Given the description of an element on the screen output the (x, y) to click on. 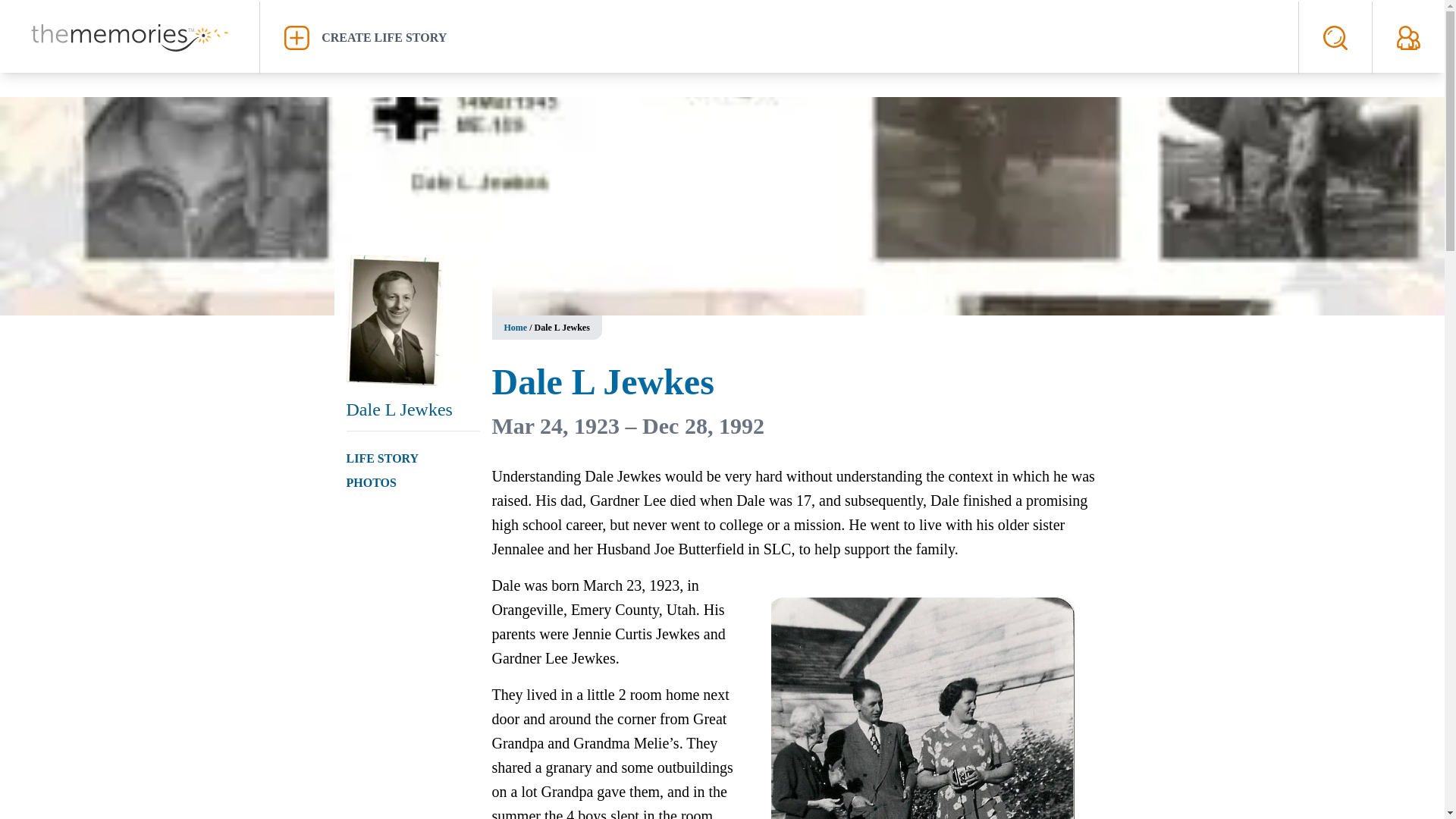
Home (515, 327)
My Account (1408, 37)
PHOTOS (371, 481)
CREATE LIFE STORY (778, 37)
LIFE STORY (382, 458)
Create a life story (778, 37)
